Given the description of an element on the screen output the (x, y) to click on. 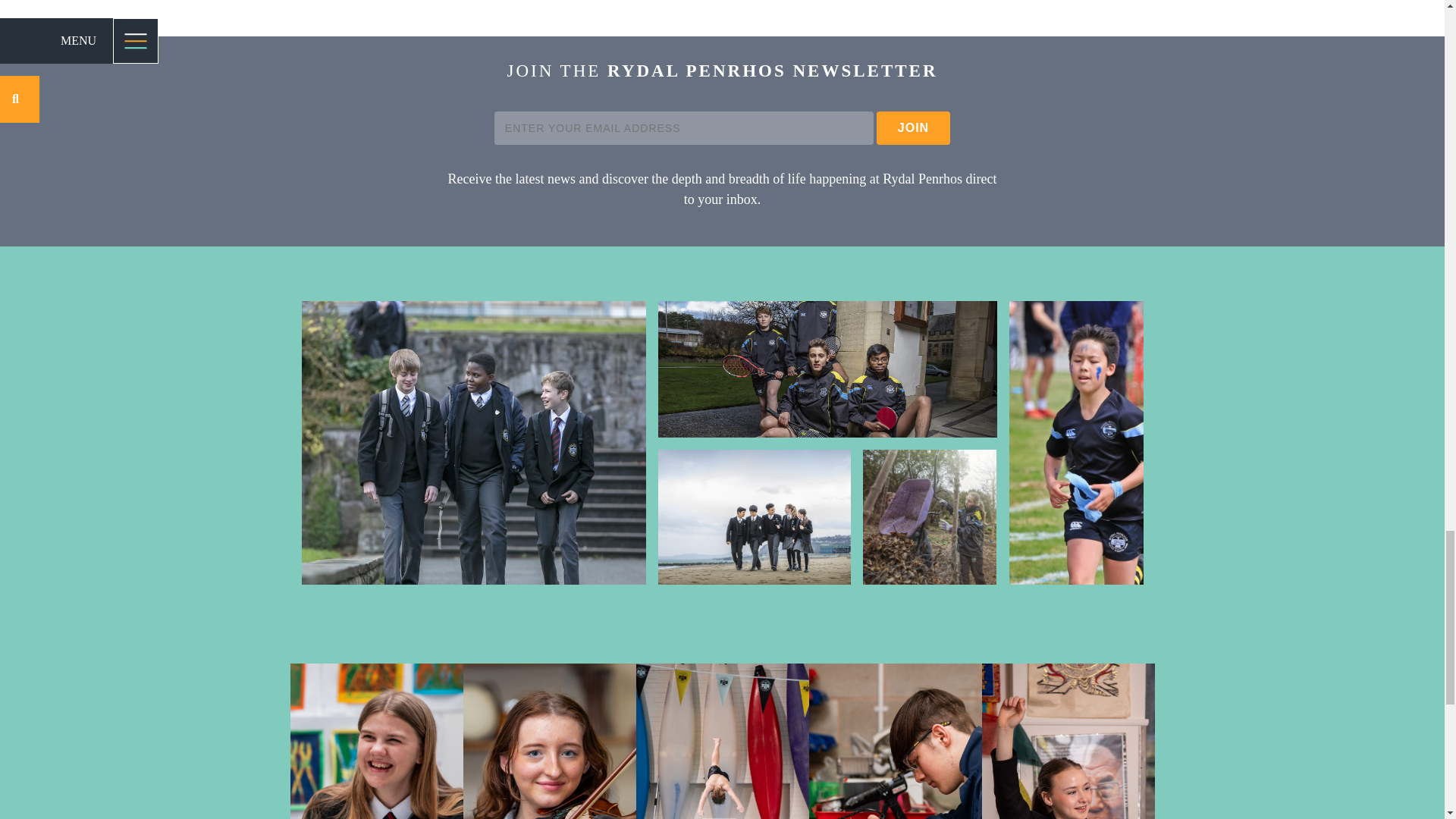
Join (913, 127)
